Given the description of an element on the screen output the (x, y) to click on. 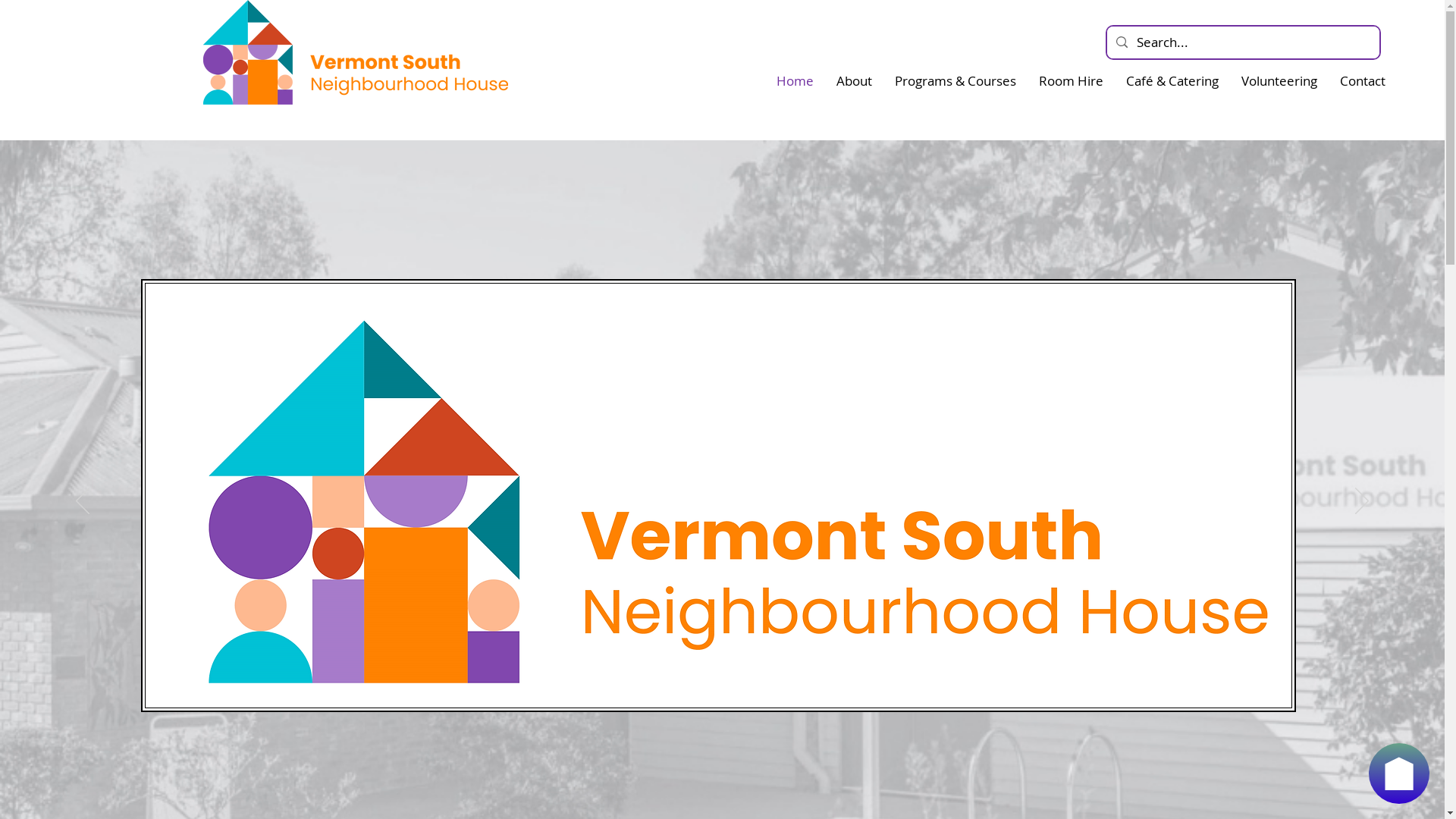
Home Element type: text (795, 80)
Contact Element type: text (1362, 80)
Programs & Courses Element type: text (955, 80)
About Element type: text (854, 80)
Room Hire Element type: text (1070, 80)
Volunteering Element type: text (1279, 80)
